Given the description of an element on the screen output the (x, y) to click on. 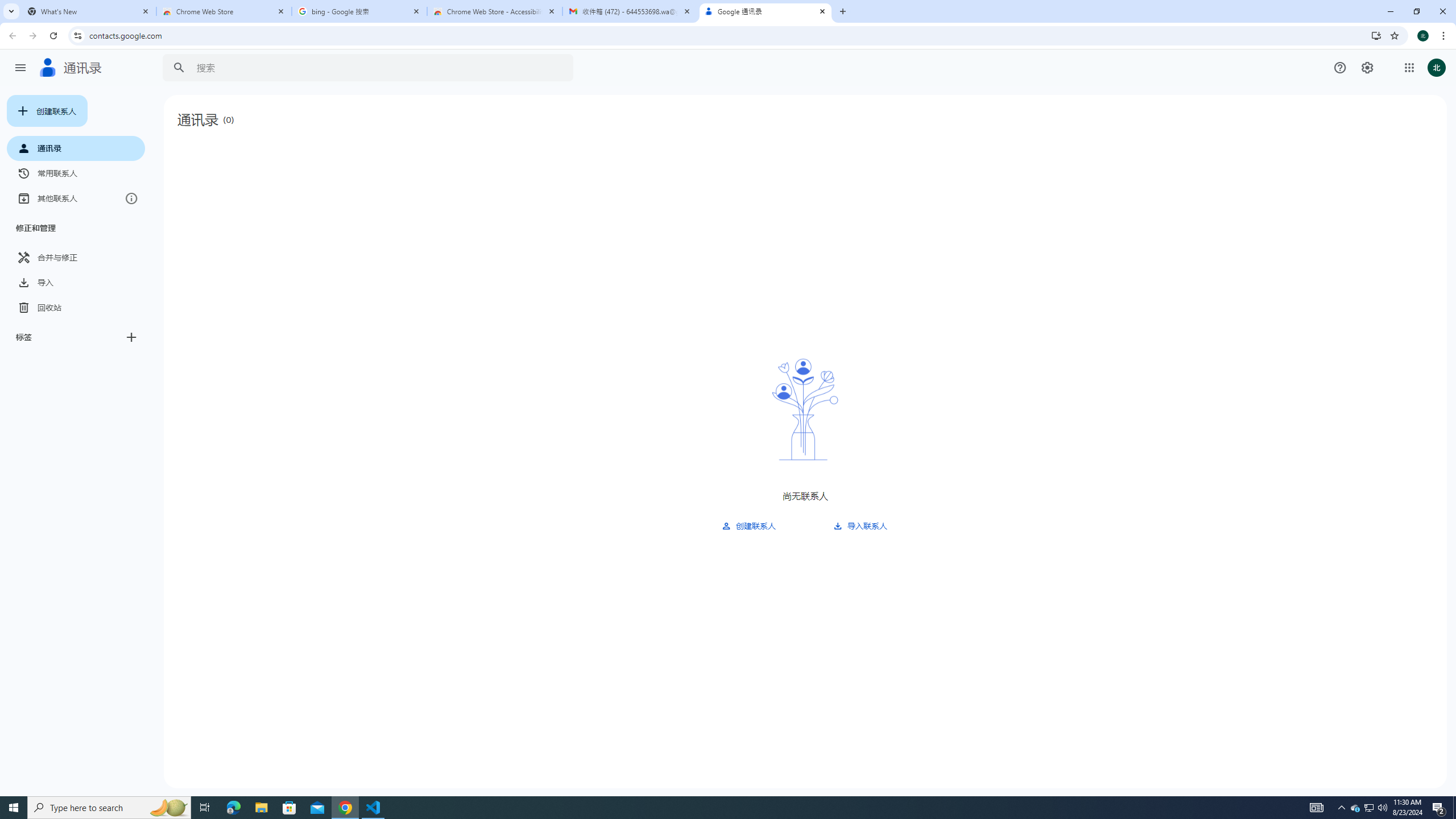
Address and search bar (726, 35)
